Given the description of an element on the screen output the (x, y) to click on. 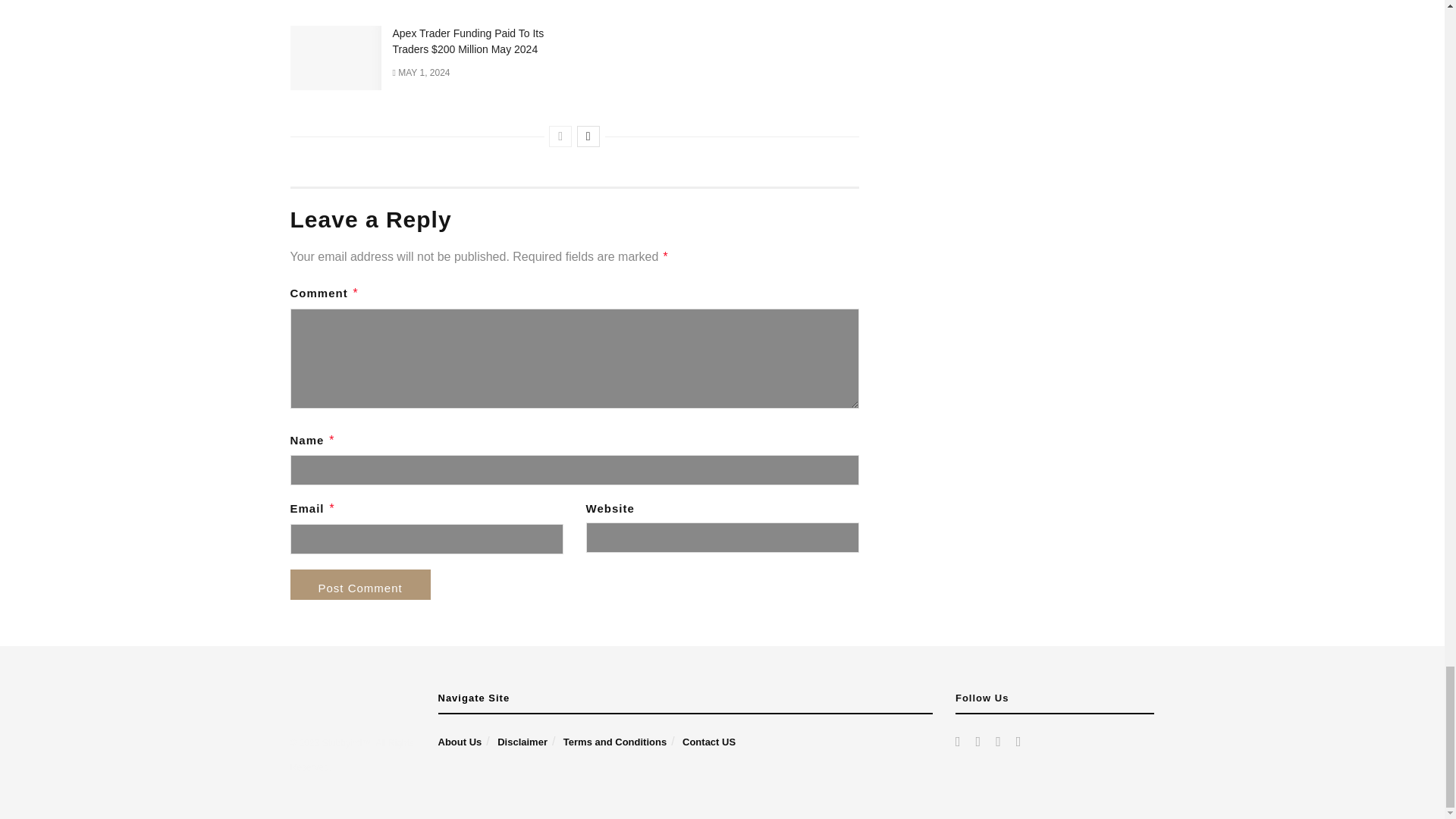
Post Comment (359, 584)
